Given the description of an element on the screen output the (x, y) to click on. 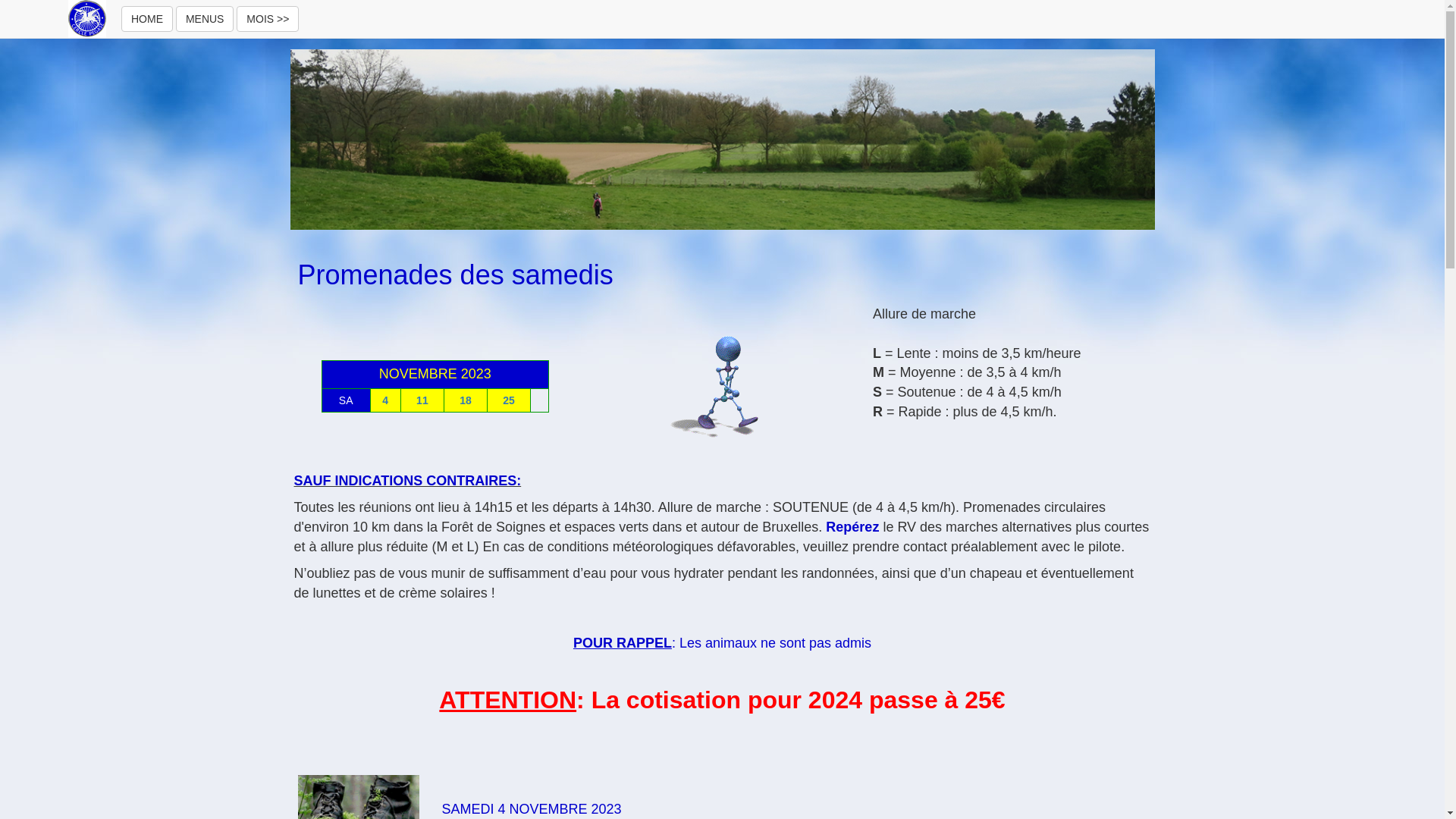
25 Element type: text (508, 400)
MOIS >> Element type: text (267, 18)
HOME Element type: text (146, 18)
4 Element type: text (385, 400)
MENUS Element type: text (204, 18)
18 Element type: text (465, 400)
11 Element type: text (422, 400)
